Given the description of an element on the screen output the (x, y) to click on. 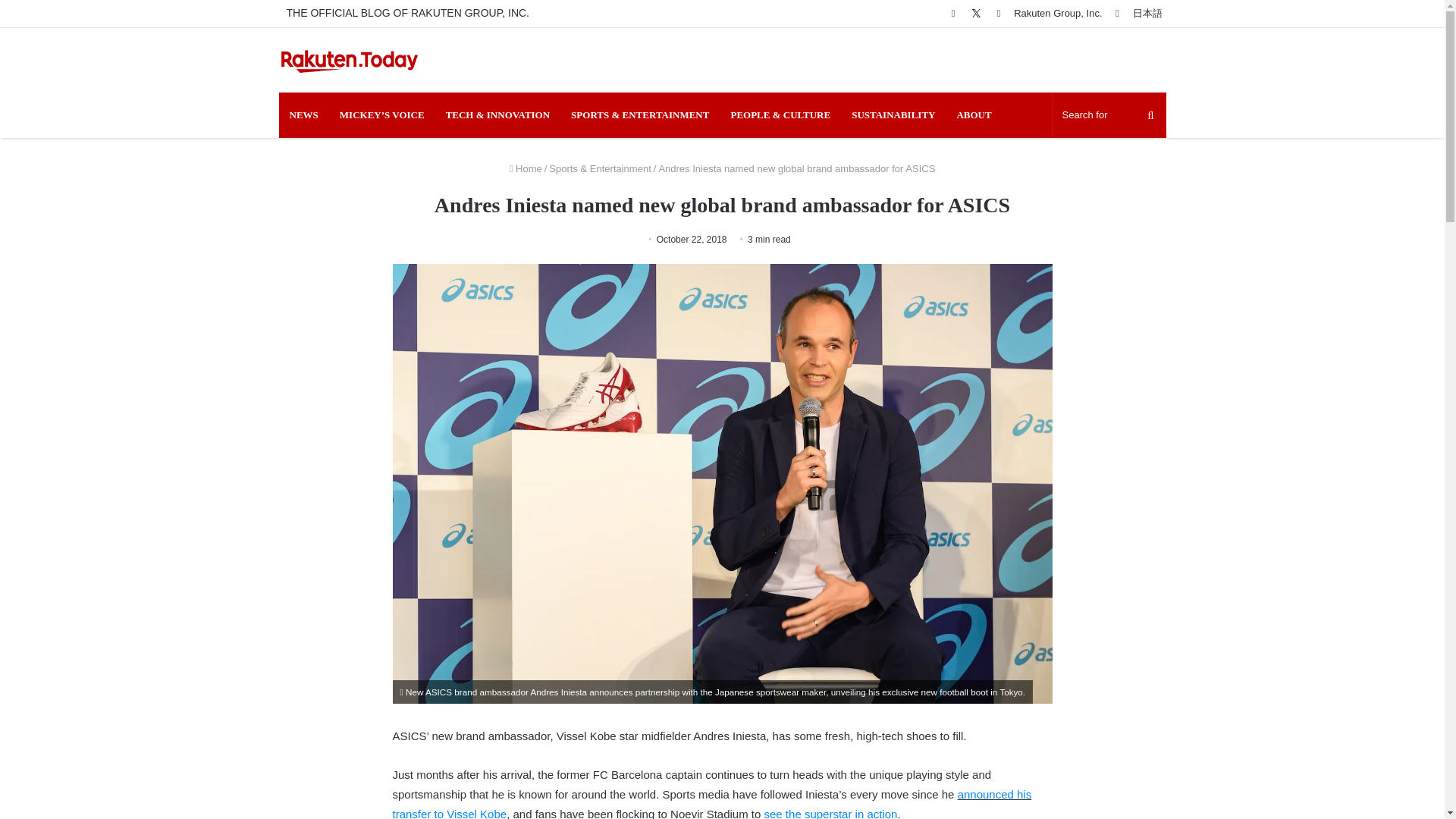
NEWS (304, 115)
Search for (1109, 115)
Rakuten Today (349, 59)
ABOUT (972, 115)
Home (525, 168)
Rakuten Group, Inc. (1057, 13)
THE OFFICIAL BLOG OF RAKUTEN GROUP, INC. (408, 13)
see the superstar in action (831, 813)
announced his transfer to Vissel Kobe (712, 803)
SUSTAINABILITY (892, 115)
